Given the description of an element on the screen output the (x, y) to click on. 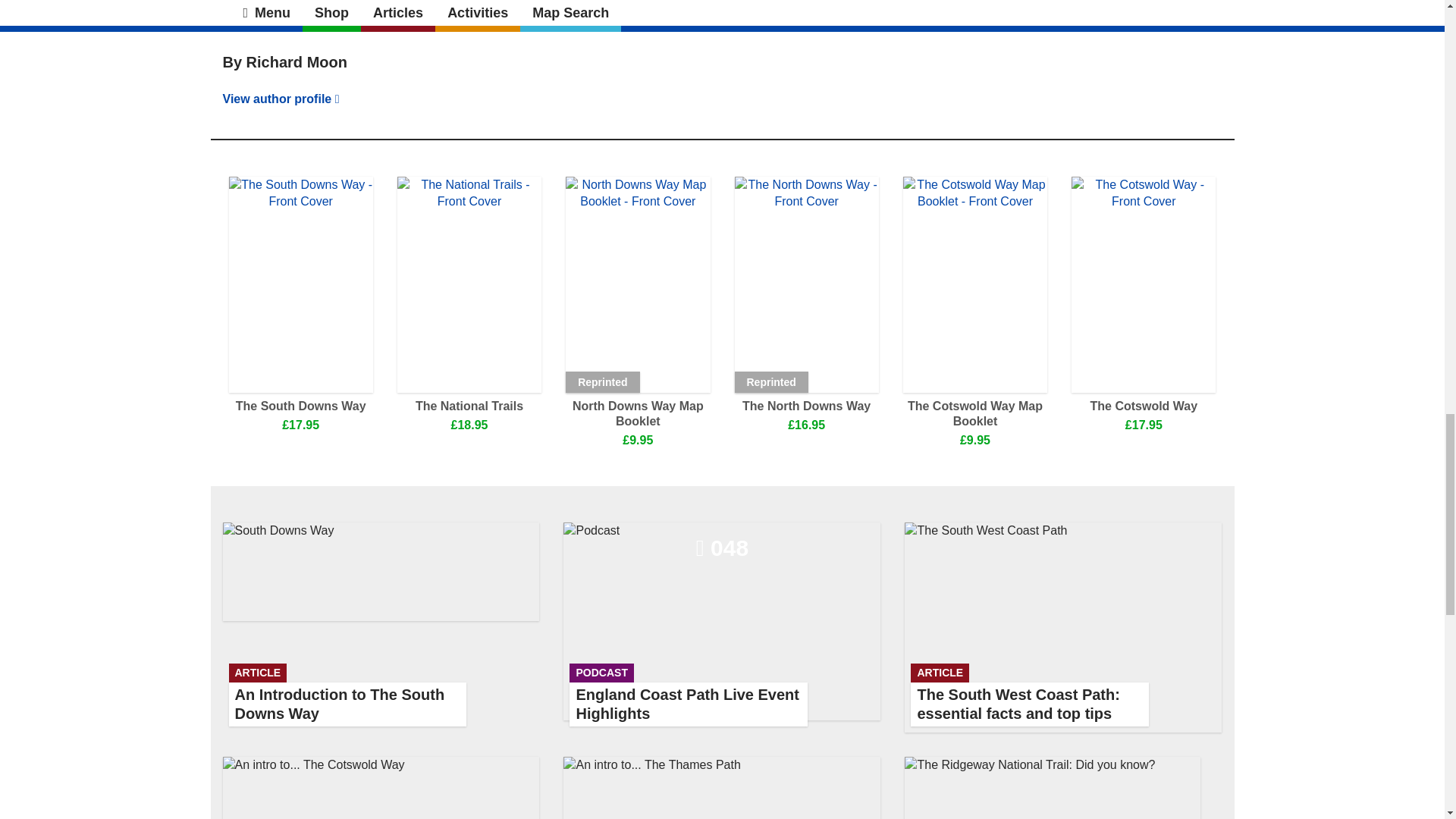
The North Downs Way (805, 406)
The South Downs Way (300, 406)
View author profile (282, 3)
North Downs Way Map Booklet (638, 413)
The Cotswold Way Map Booklet (974, 413)
The Cotswold Way (1143, 406)
The National Trails (381, 627)
View author profile (469, 406)
